Given the description of an element on the screen output the (x, y) to click on. 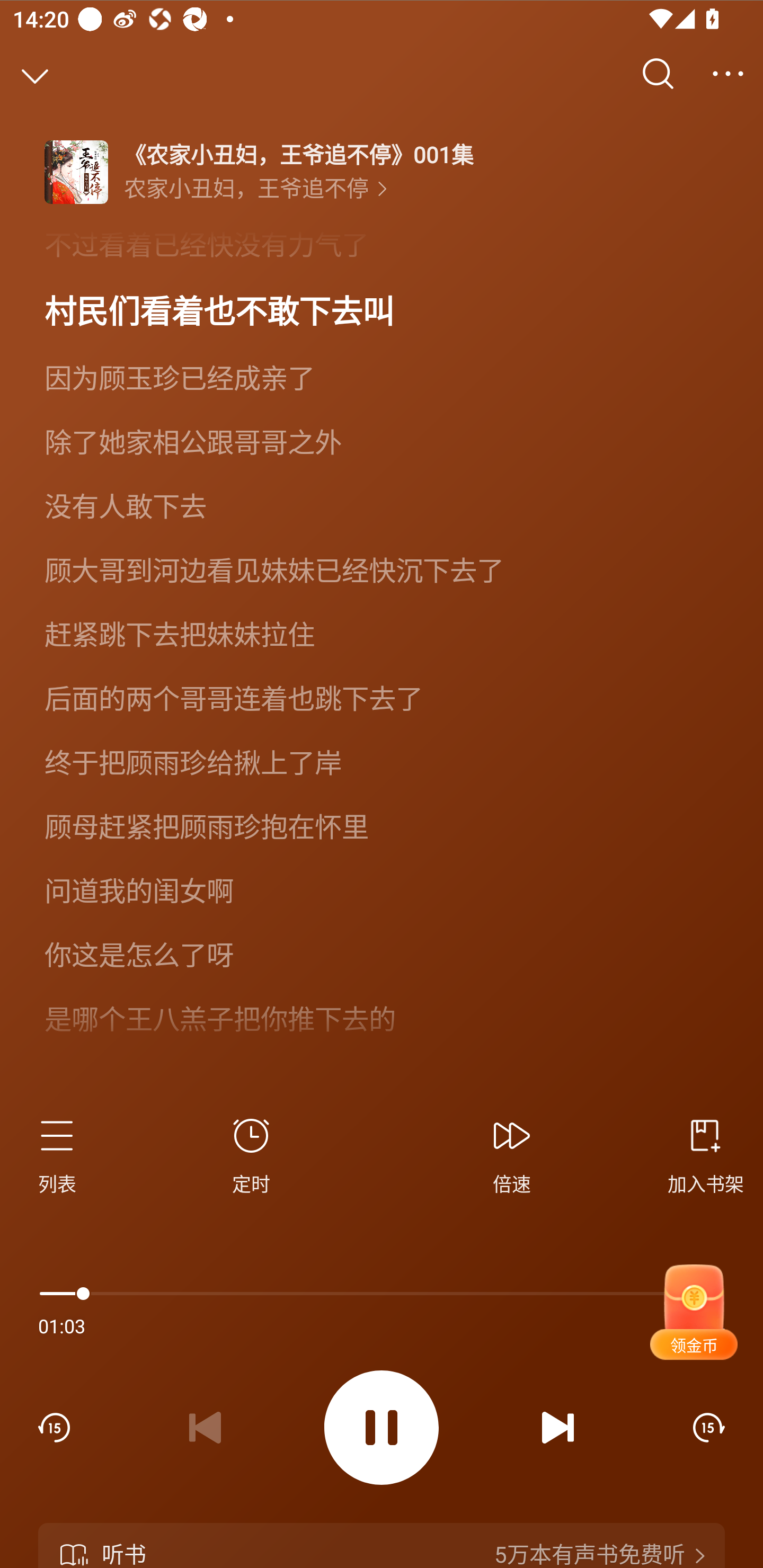
返回 (35, 73)
搜索 (657, 73)
更多 (727, 73)
农家小丑妇，王爷追不停 (255, 188)
列表，按钮 列表 (64, 1153)
定时，按钮 定时 (250, 1153)
倍速，按钮 倍速 (511, 1153)
加入书架，按钮 加入书架 (697, 1153)
暂停 (381, 1427)
后退十五秒 (53, 1427)
上一篇 (204, 1427)
下一篇 (557, 1427)
前进十五秒 (708, 1427)
听书 5万本有声书免费听 (381, 1545)
